Given the description of an element on the screen output the (x, y) to click on. 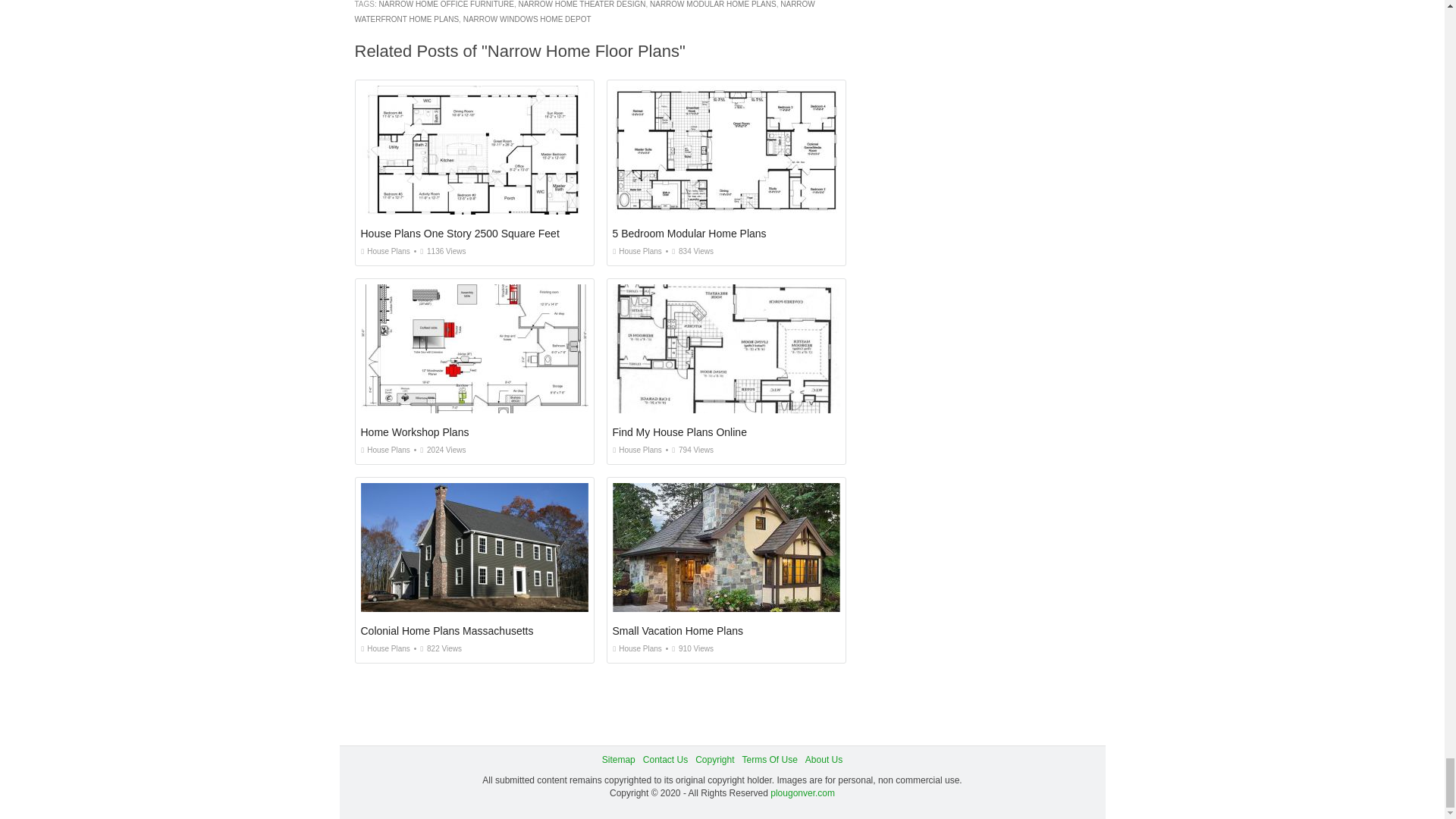
NARROW MODULAR HOME PLANS (712, 4)
NARROW HOME THEATER DESIGN (581, 4)
NARROW WATERFRONT HOME PLANS (585, 11)
NARROW WINDOWS HOME DEPOT (527, 19)
NARROW HOME OFFICE FURNITURE (445, 4)
House Plans (637, 251)
House Plans One Story 2500 Square Feet (460, 233)
House Plans (385, 251)
5 Bedroom Modular Home Plans (689, 233)
